Given the description of an element on the screen output the (x, y) to click on. 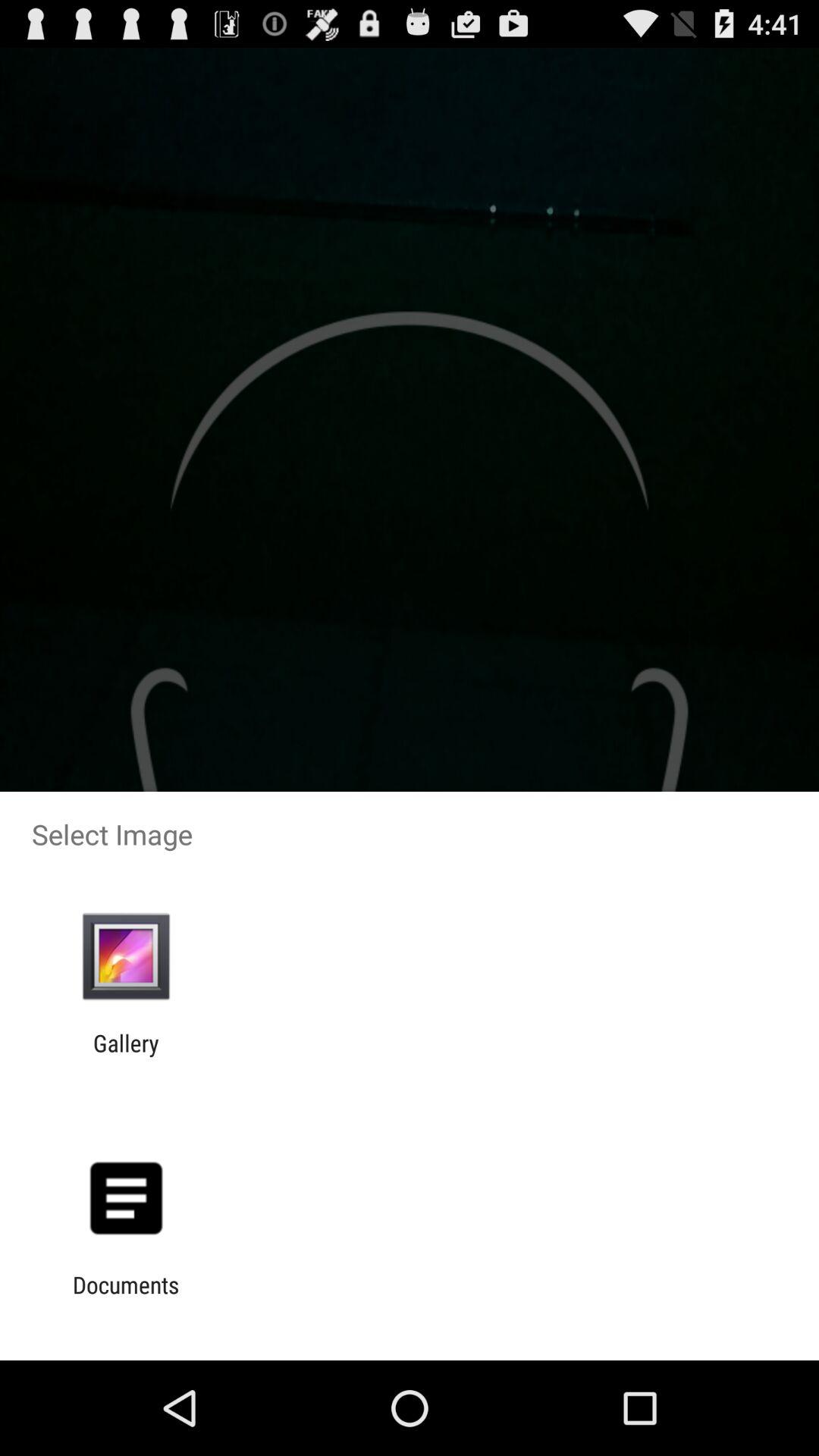
launch gallery icon (126, 1056)
